Given the description of an element on the screen output the (x, y) to click on. 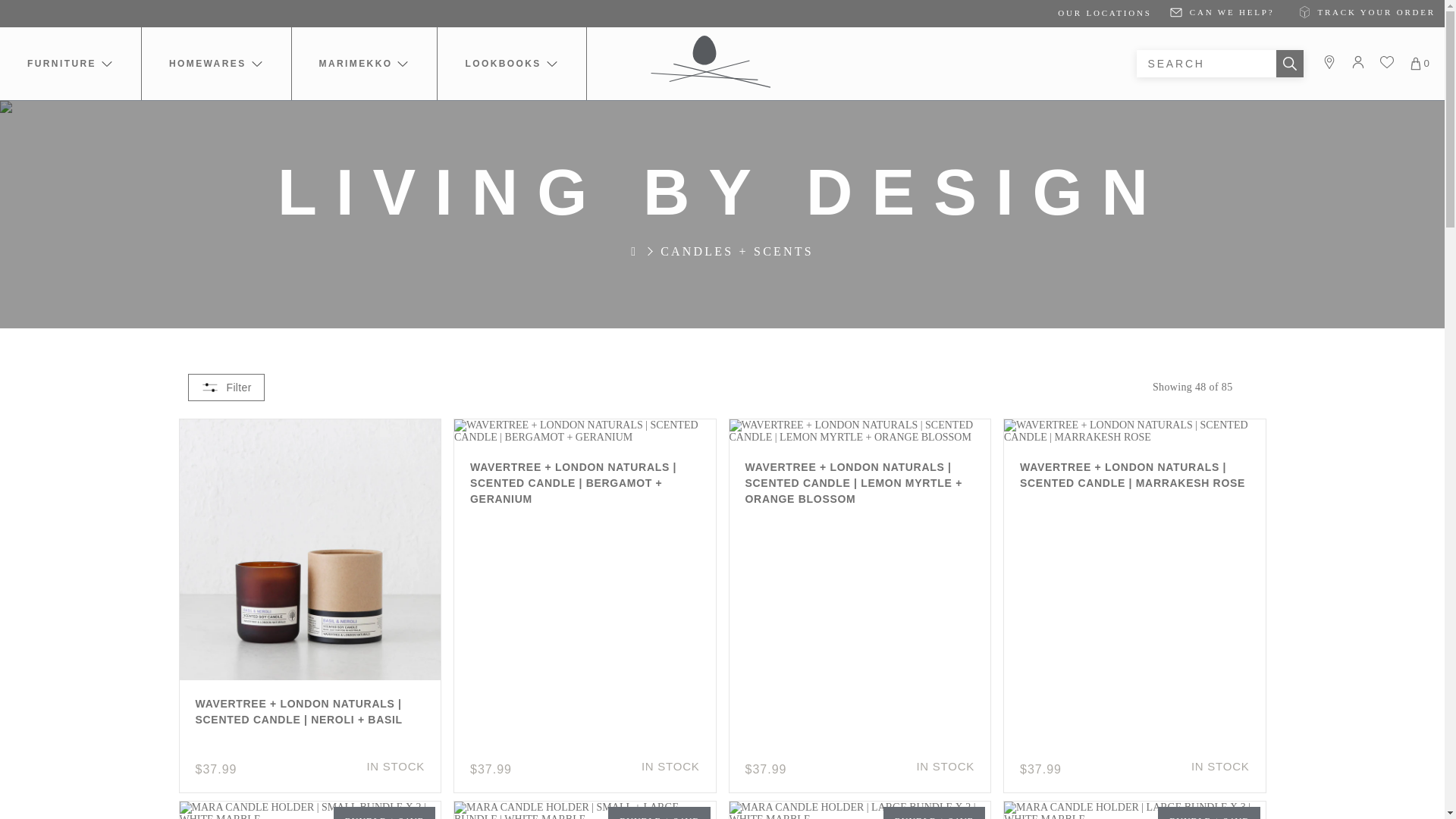
TRACK YOUR ORDER (1363, 11)
OUR LOCATIONS (1104, 12)
CAN WE HELP? (1222, 11)
Logo (710, 61)
FURNITURE (70, 63)
Homepage (645, 250)
